Given the description of an element on the screen output the (x, y) to click on. 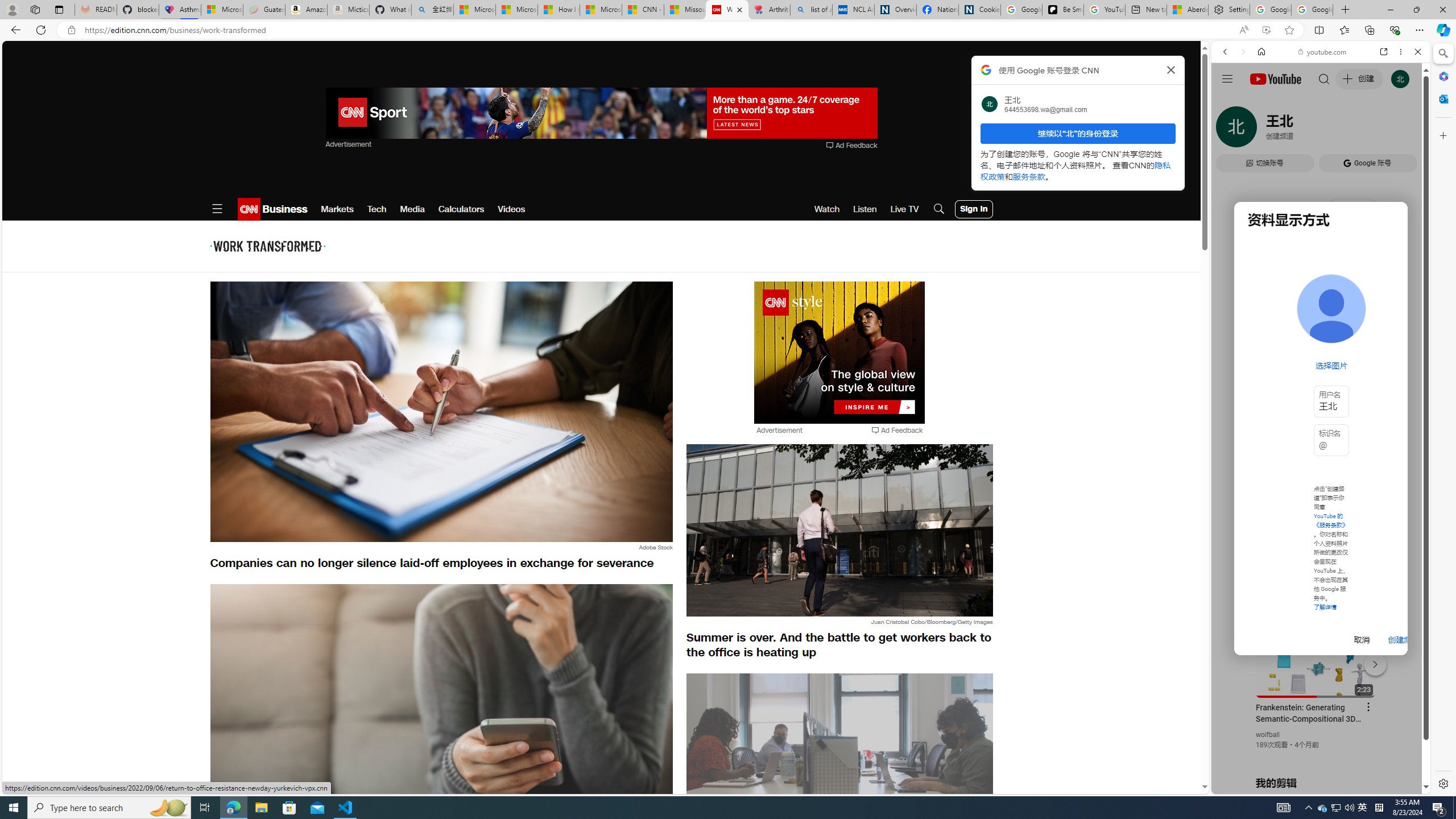
list of asthma inhalers uk - Search (810, 9)
Work Transformed | CNN Business (726, 9)
NCL Adult Asthma Inhaler Choice Guideline (853, 9)
How I Got Rid of Microsoft Edge's Unnecessary Features (558, 9)
Search Filter, VIDEOS (1300, 129)
Forward (1242, 51)
